Given the description of an element on the screen output the (x, y) to click on. 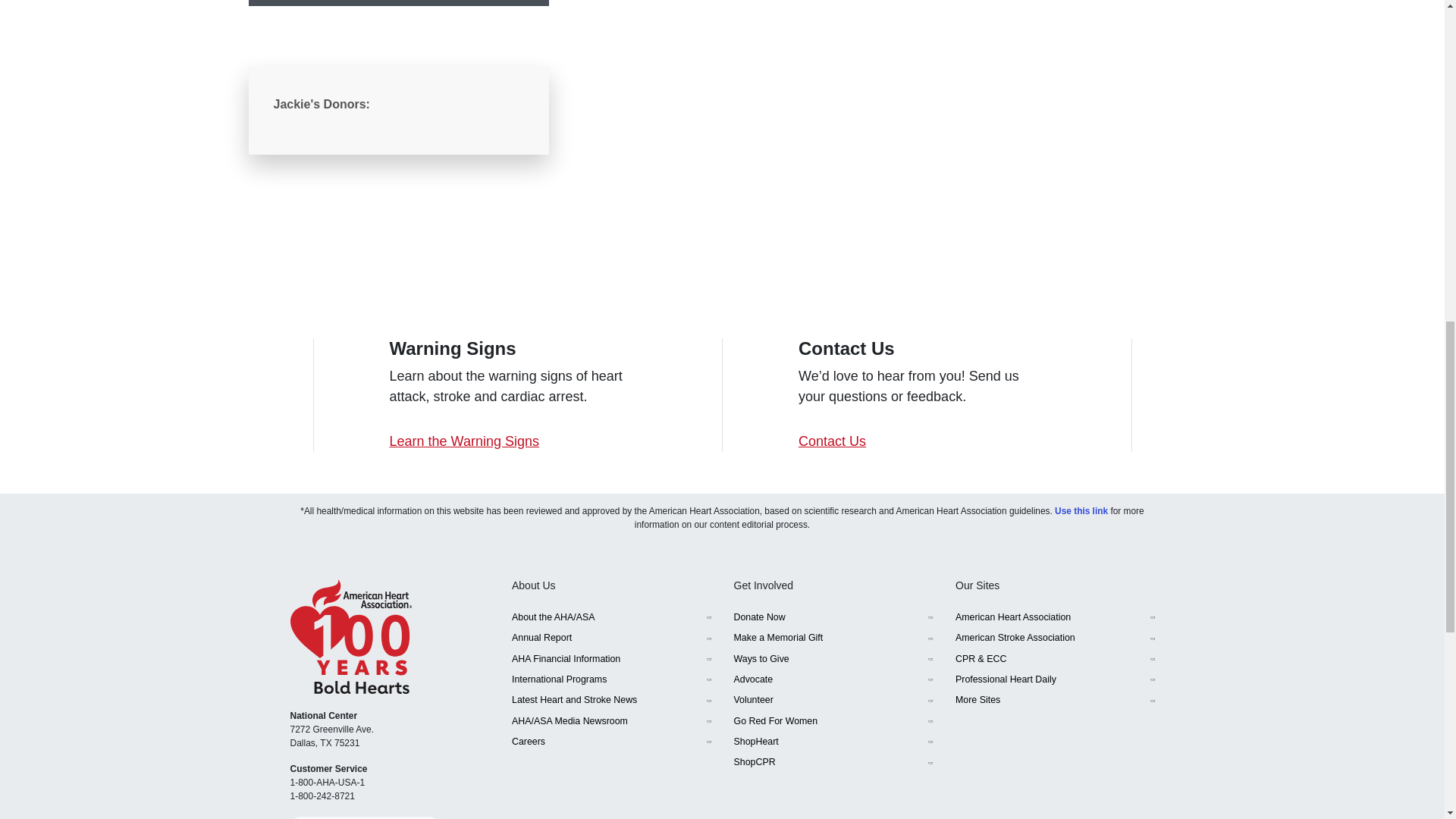
Ways to Give (833, 658)
Latest Heart and Stroke News (611, 700)
AHA Financial Information (611, 658)
International Programs (611, 679)
Careers (611, 742)
Advocate (833, 679)
Annual Report (611, 638)
ShopHeart (833, 742)
Learn the Warning Signs (464, 441)
Go Red For Women (833, 720)
